Given the description of an element on the screen output the (x, y) to click on. 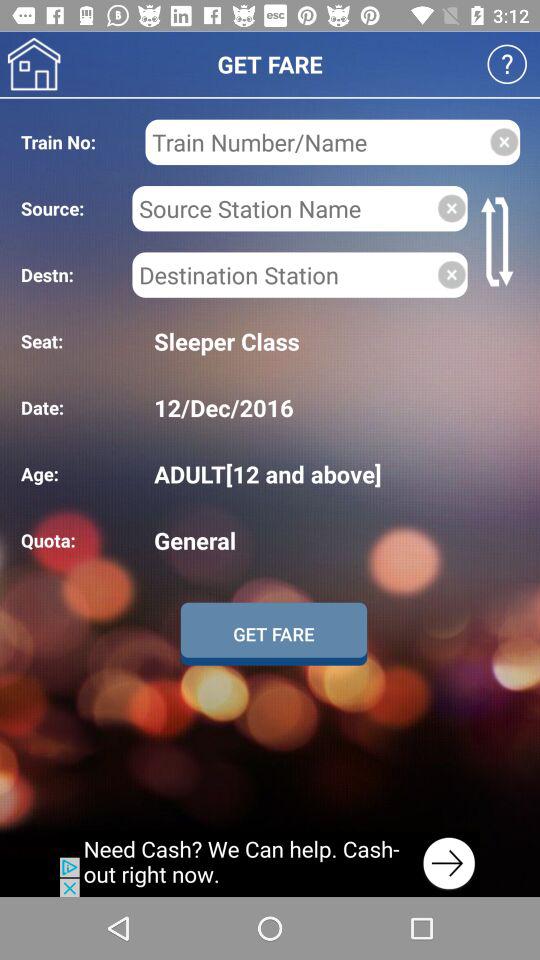
go to close (451, 208)
